Given the description of an element on the screen output the (x, y) to click on. 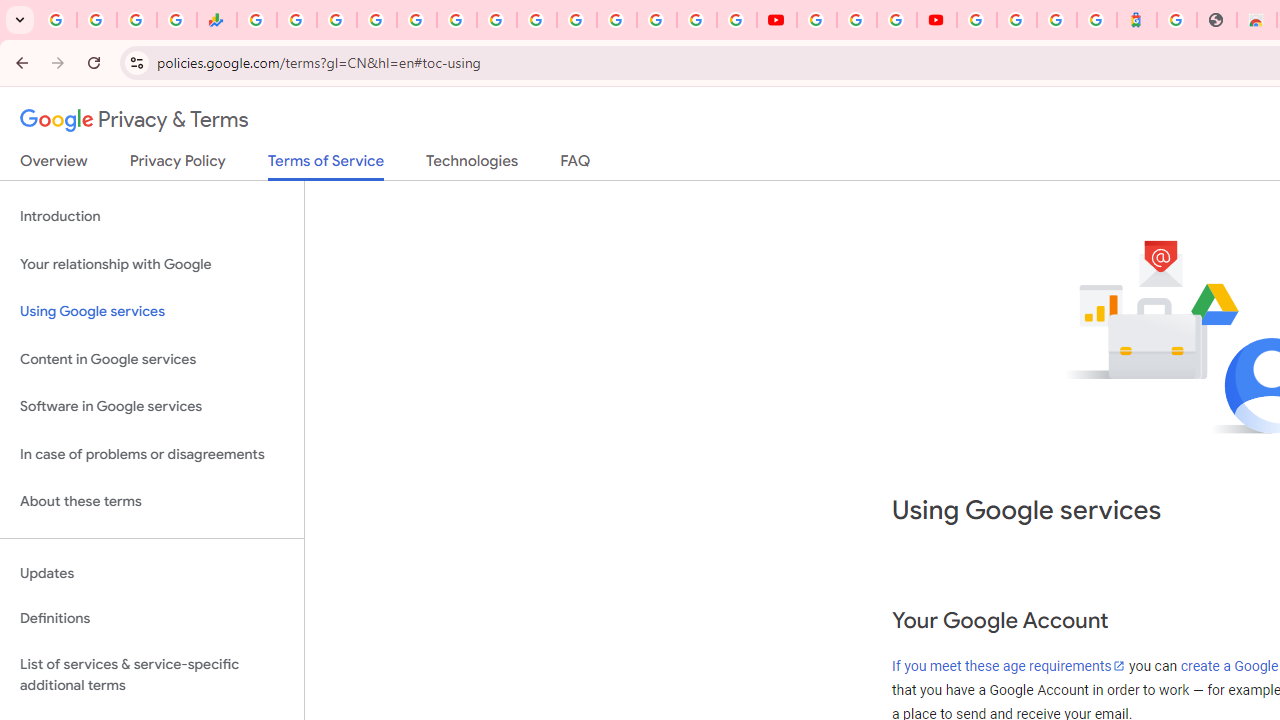
Create your Google Account (896, 20)
YouTube (536, 20)
Google Workspace Admin Community (56, 20)
Atour Hotel - Google hotels (1137, 20)
Definitions (152, 619)
Privacy Checkup (736, 20)
If you meet these age requirements (1009, 665)
Content in Google services (152, 358)
